Given the description of an element on the screen output the (x, y) to click on. 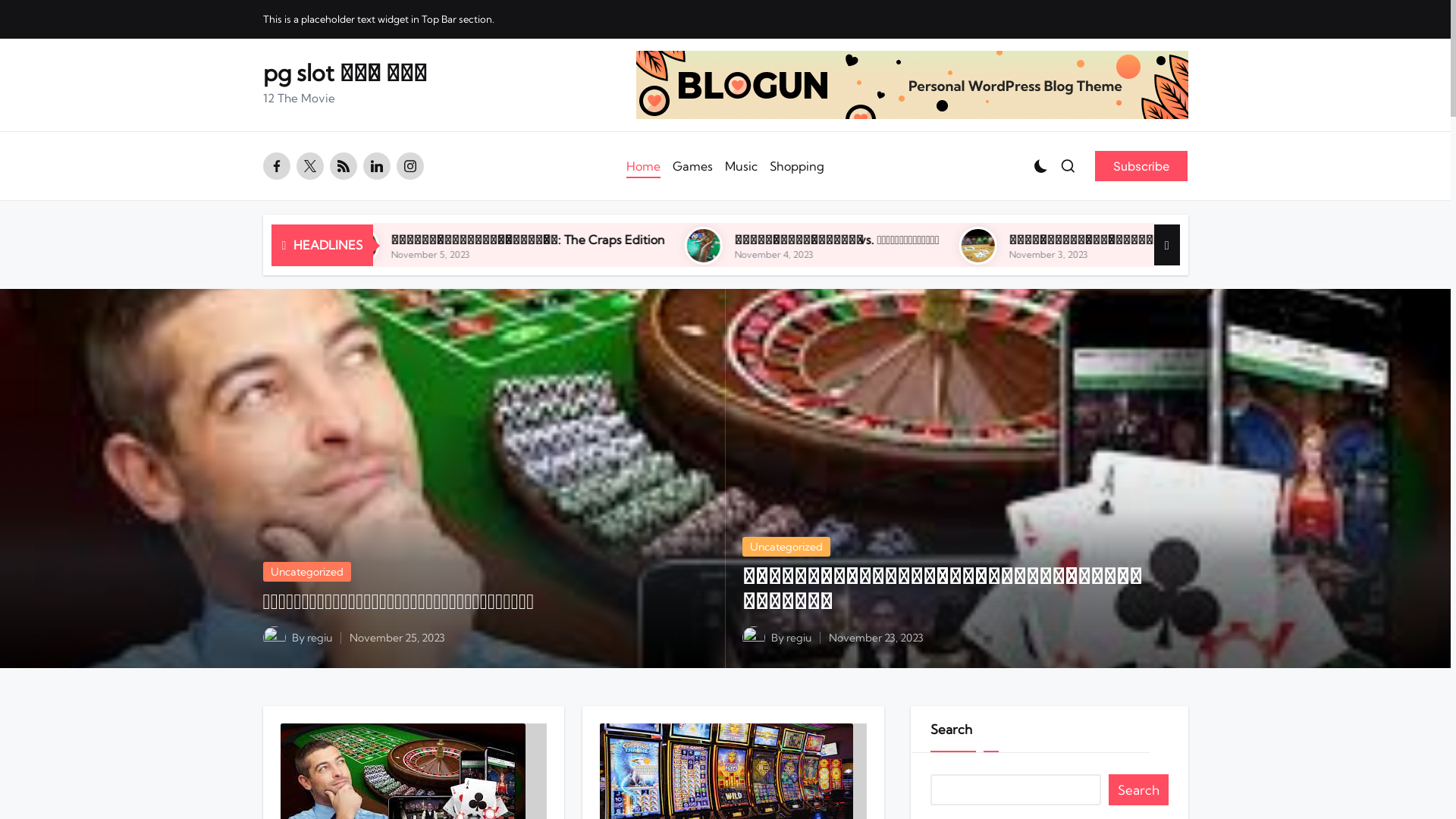
Games Element type: text (692, 165)
Search Element type: text (1137, 789)
Subscribe Element type: text (1140, 166)
rss.com Element type: text (345, 165)
instagram.com Element type: text (412, 165)
regiu Element type: text (318, 637)
Home Element type: text (643, 165)
Uncategorized Element type: text (785, 546)
Music Element type: text (740, 165)
linkedin.com Element type: text (378, 165)
facebook.com Element type: text (278, 165)
twitter.com Element type: text (312, 165)
Uncategorized Element type: text (306, 571)
Shopping Element type: text (796, 165)
regiu Element type: text (797, 637)
